Given the description of an element on the screen output the (x, y) to click on. 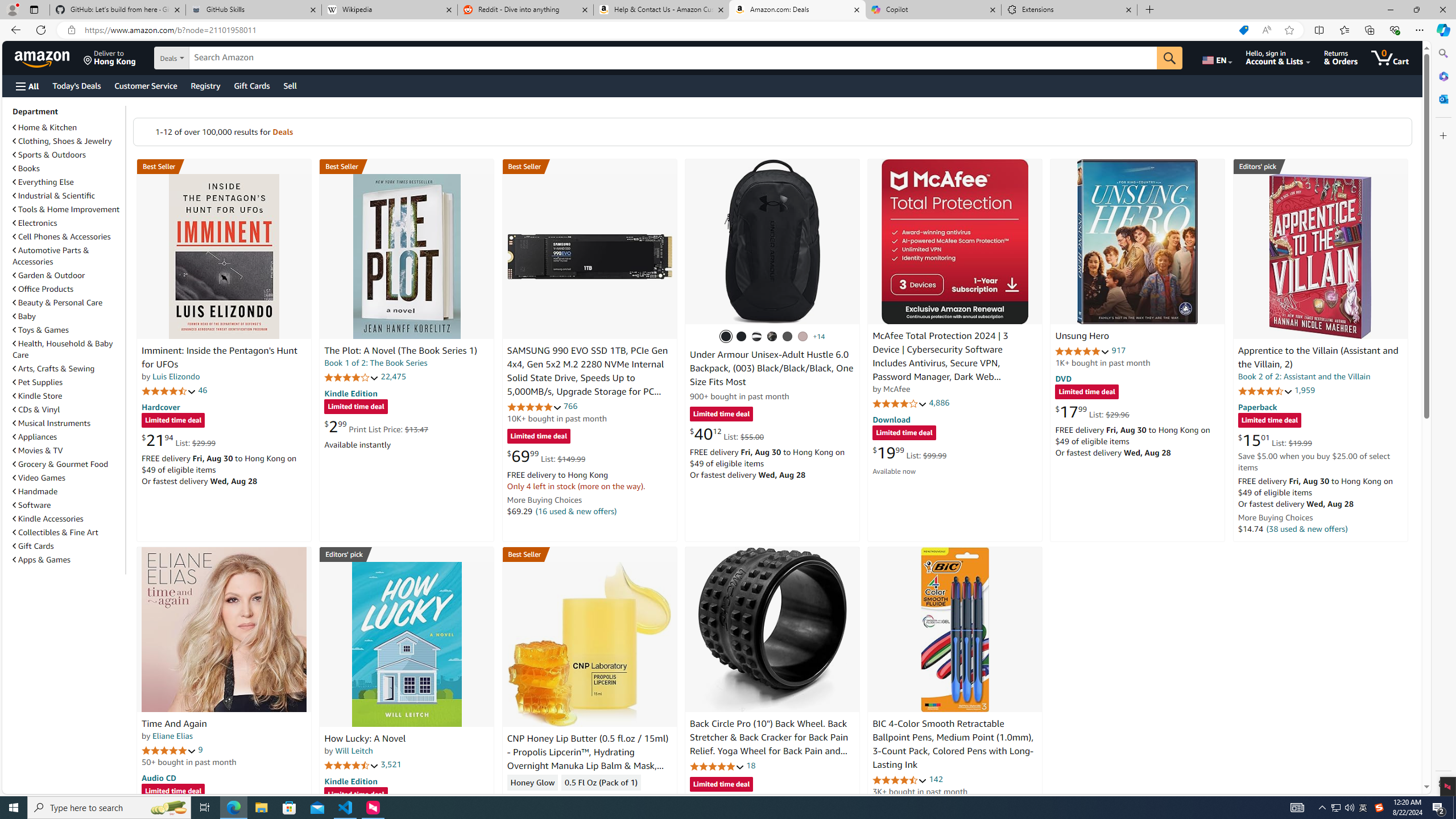
Grocery & Gourmet Food (67, 464)
Gift Cards (33, 545)
Best Seller in Lip Butters (589, 553)
CDs & Vinyl (67, 409)
Skip to main content (48, 56)
Help & Contact Us - Amazon Customer Service (660, 9)
Home & Kitchen (67, 127)
142 (935, 778)
Book 1 of 2: The Book Series (376, 362)
Eliane Elias (171, 735)
Pet Supplies (67, 382)
